Given the description of an element on the screen output the (x, y) to click on. 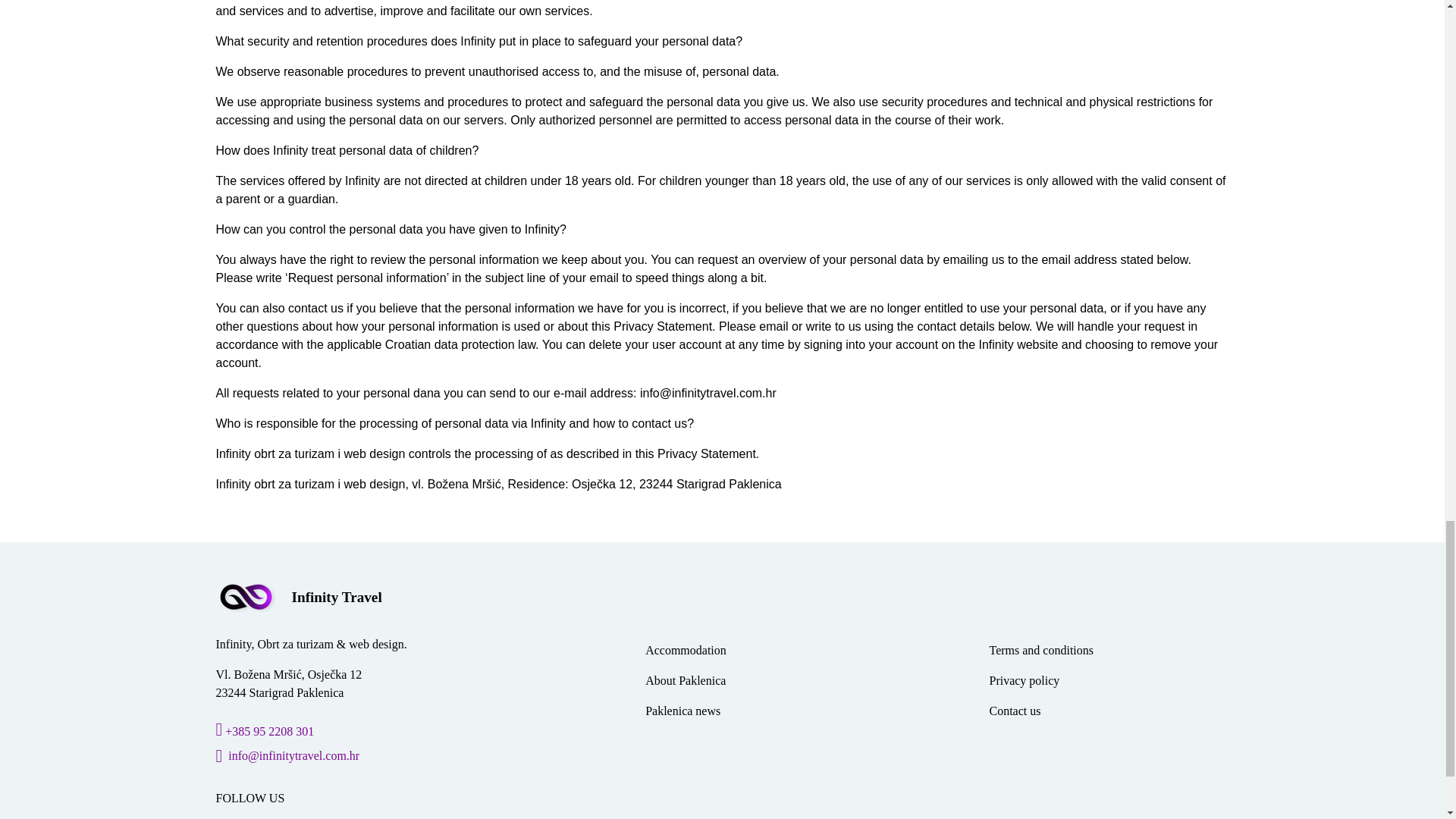
About Paklenica (685, 680)
Privacy policy (1023, 680)
Contact us (1014, 711)
Accommodation (685, 650)
Terms and conditions (1040, 650)
Paklenica news (682, 711)
